Given the description of an element on the screen output the (x, y) to click on. 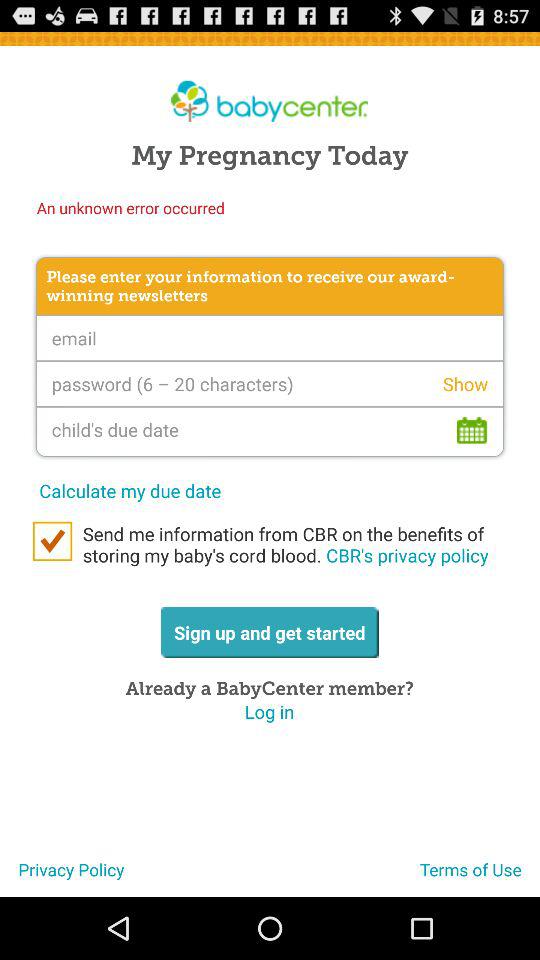
turn off the send me information (289, 544)
